Given the description of an element on the screen output the (x, y) to click on. 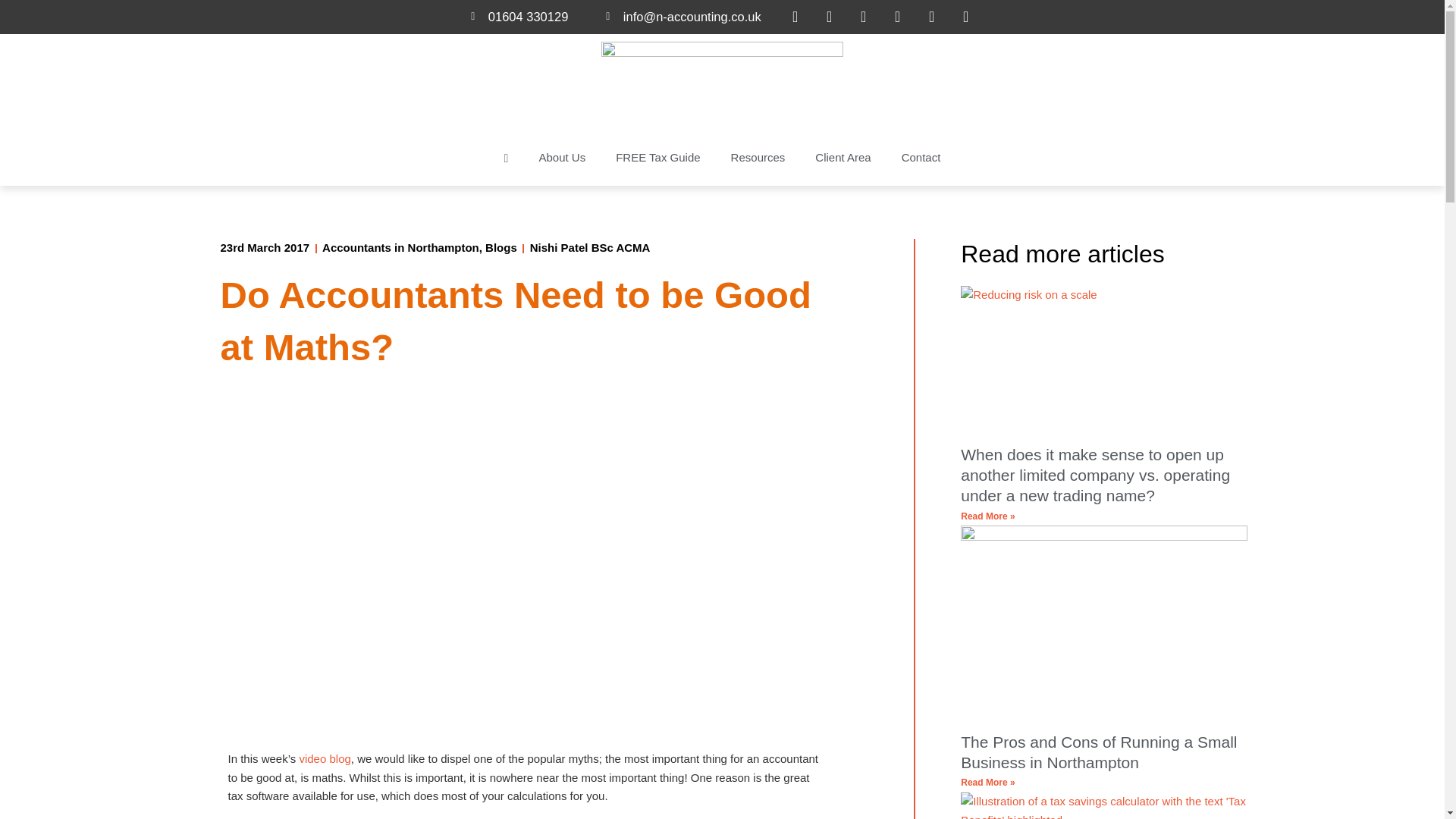
Facebook (795, 16)
FREE Tax Guide (656, 157)
Instagram (931, 16)
Twitter (829, 16)
Client Area (842, 157)
Linkedin (897, 16)
01604 330129 (518, 16)
Youtube (863, 16)
About Us (560, 157)
Resources (758, 157)
Contact (921, 157)
Tiktok (966, 16)
